Given the description of an element on the screen output the (x, y) to click on. 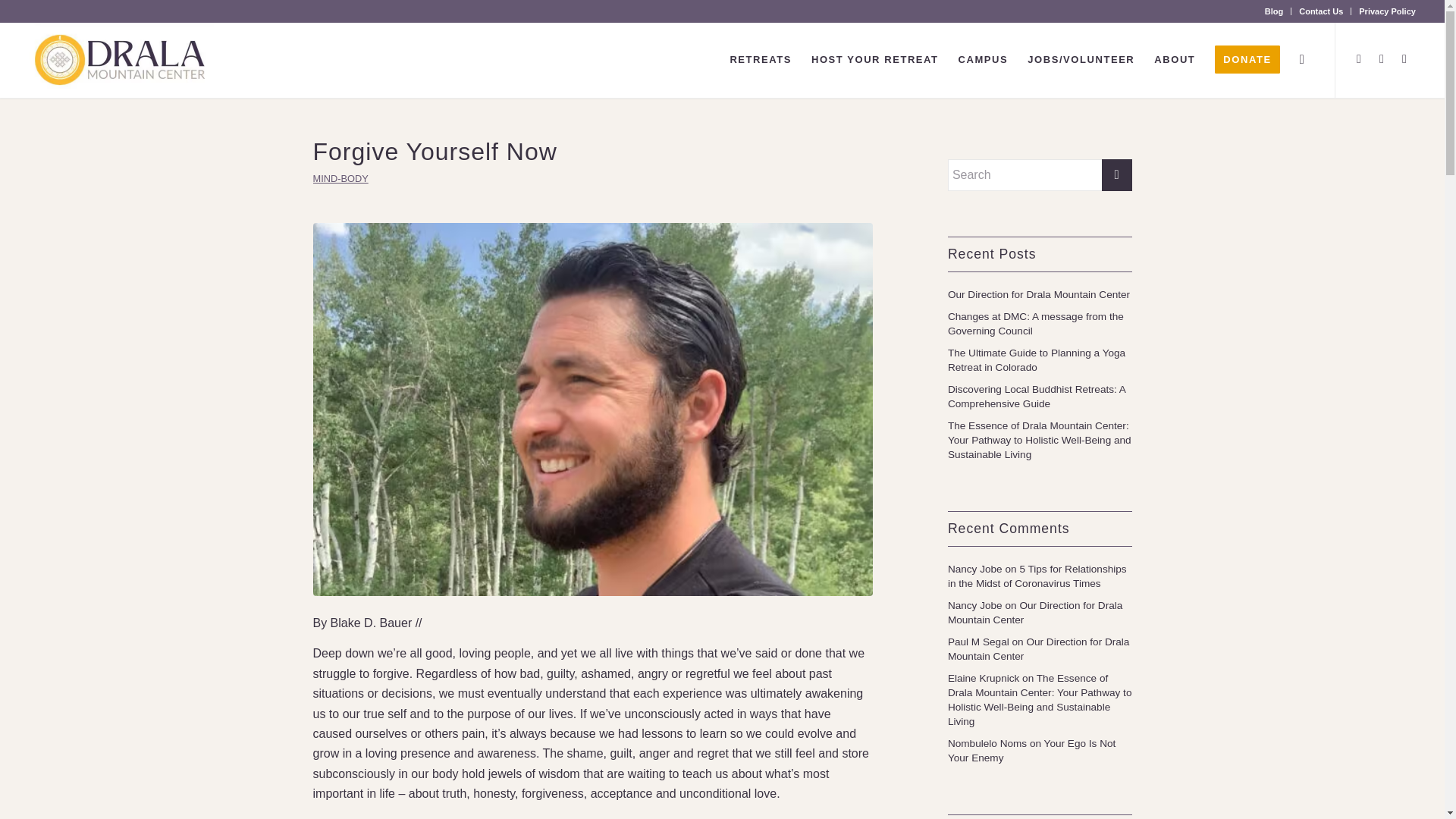
Facebook (1359, 58)
HOST YOUR RETREAT (875, 59)
RETREATS (760, 59)
CAMPUS (983, 59)
Drala-logo-1 (121, 59)
Contact Us (1320, 11)
Privacy Policy (1386, 11)
Blog (1273, 11)
Instagram (1381, 58)
DONATE (1246, 59)
Youtube (1404, 58)
